Given the description of an element on the screen output the (x, y) to click on. 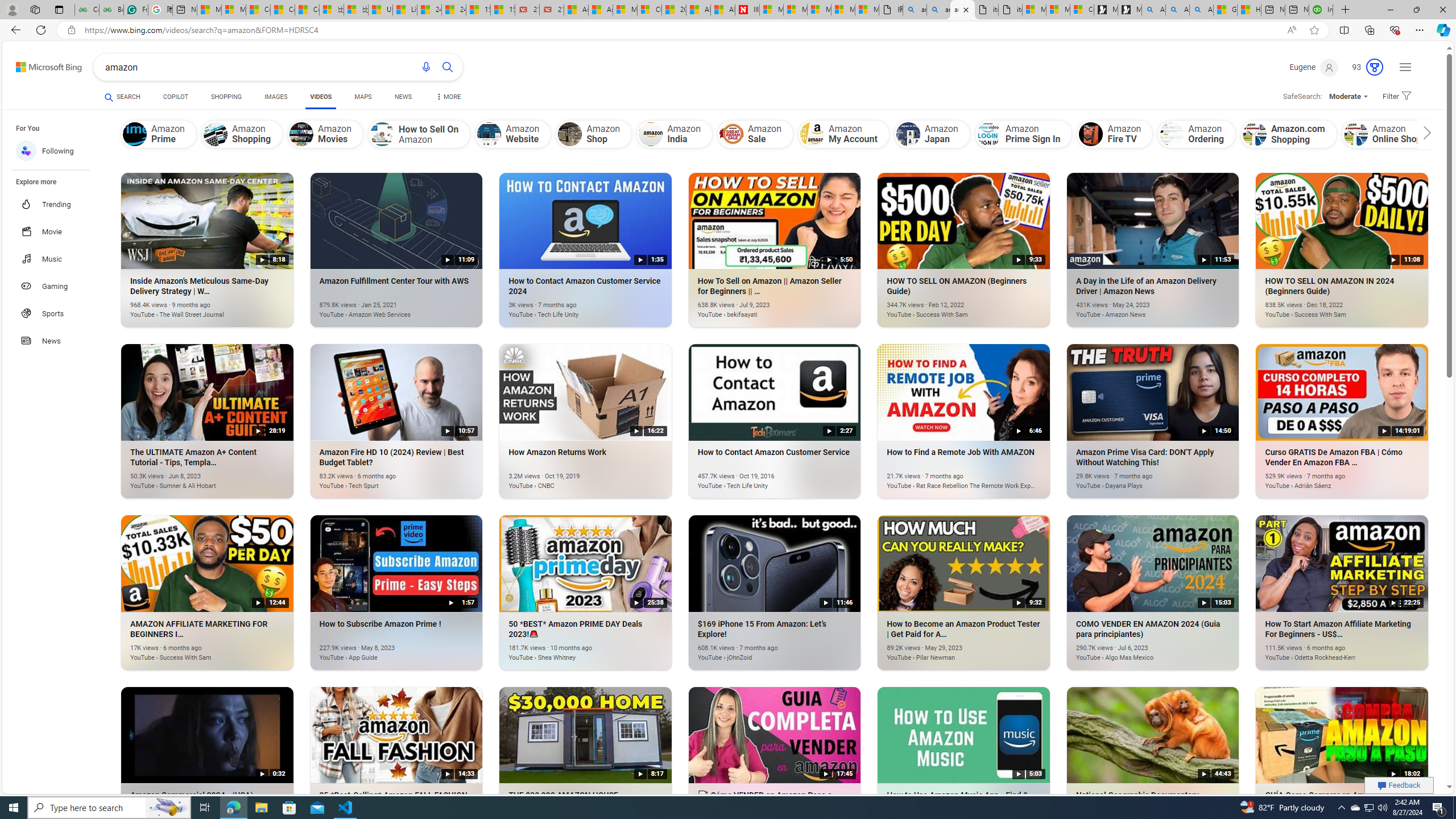
Amazon Prime Sign In (988, 133)
amazon - Search Videos (962, 9)
Amazon Shopping (241, 134)
USA TODAY - MSN (380, 9)
SafeSearch: (1298, 96)
Amazon My Account (811, 133)
Complete Guide to Arrays Data Structure - GeeksforGeeks (86, 9)
How to Sell On Amazon (419, 134)
How to Subscribe Amazon Prime ! (379, 650)
20 Ways to Boost Your Protein Intake at Every Meal (673, 9)
COMO VENDER EN AMAZON 2024 (Guia para principiantes) (1135, 650)
How Amazon Returns Work (568, 479)
